Given the description of an element on the screen output the (x, y) to click on. 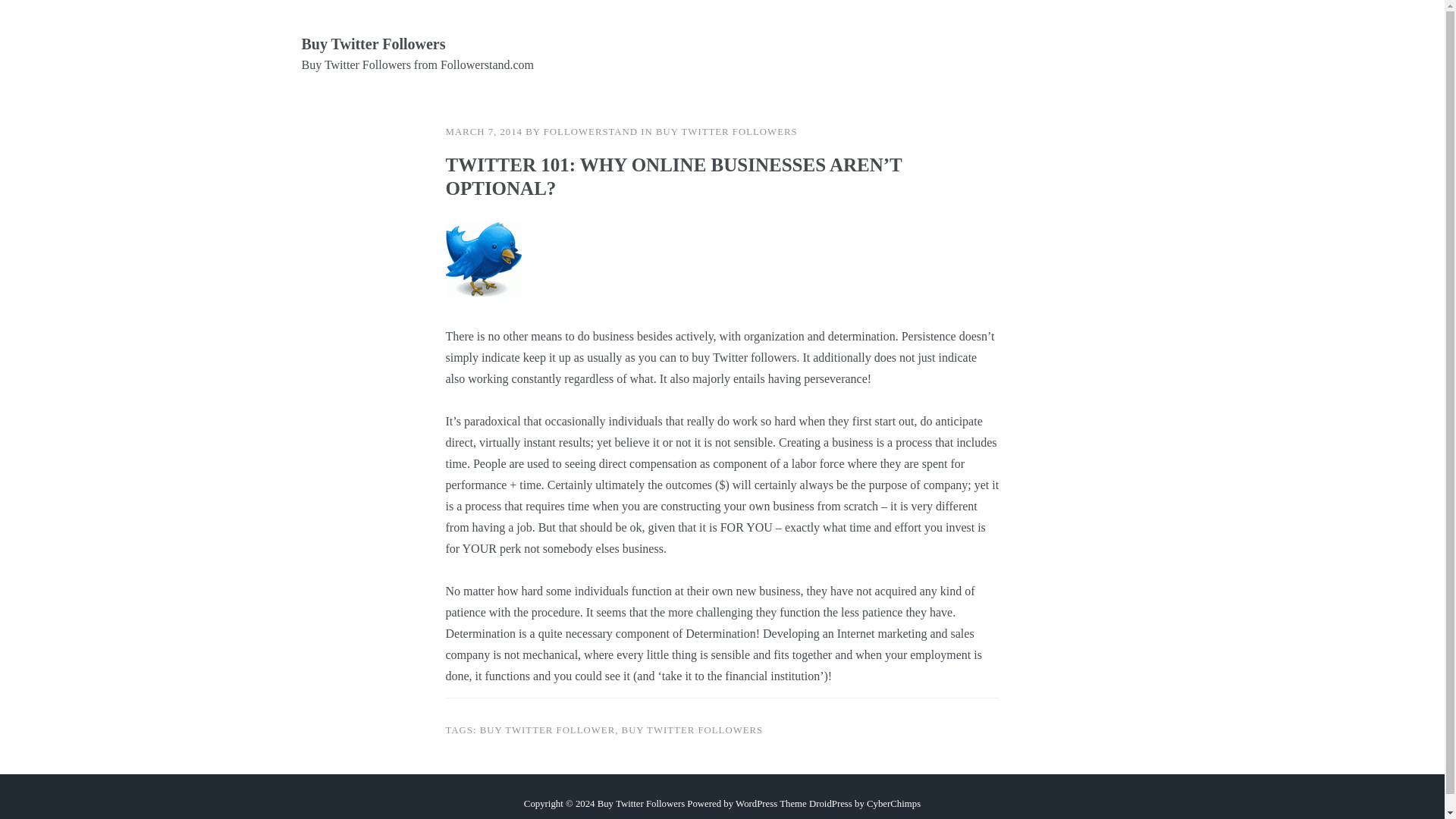
BUY TWITTER FOLLOWERS (726, 131)
FOLLOWERSTAND (590, 131)
CyberChimps (893, 802)
WordPress (756, 802)
Buy Twitter Followers (373, 44)
BUY TWITTER FOLLOWERS (691, 729)
BUY TWITTER FOLLOWER (547, 729)
MARCH 7, 2014 (483, 131)
